Given the description of an element on the screen output the (x, y) to click on. 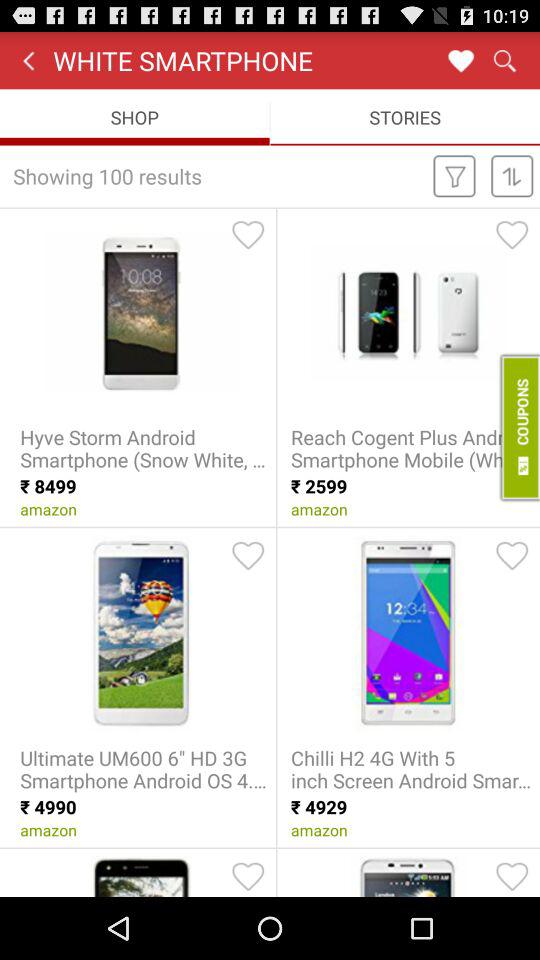
save the item as a favorite (512, 876)
